Given the description of an element on the screen output the (x, y) to click on. 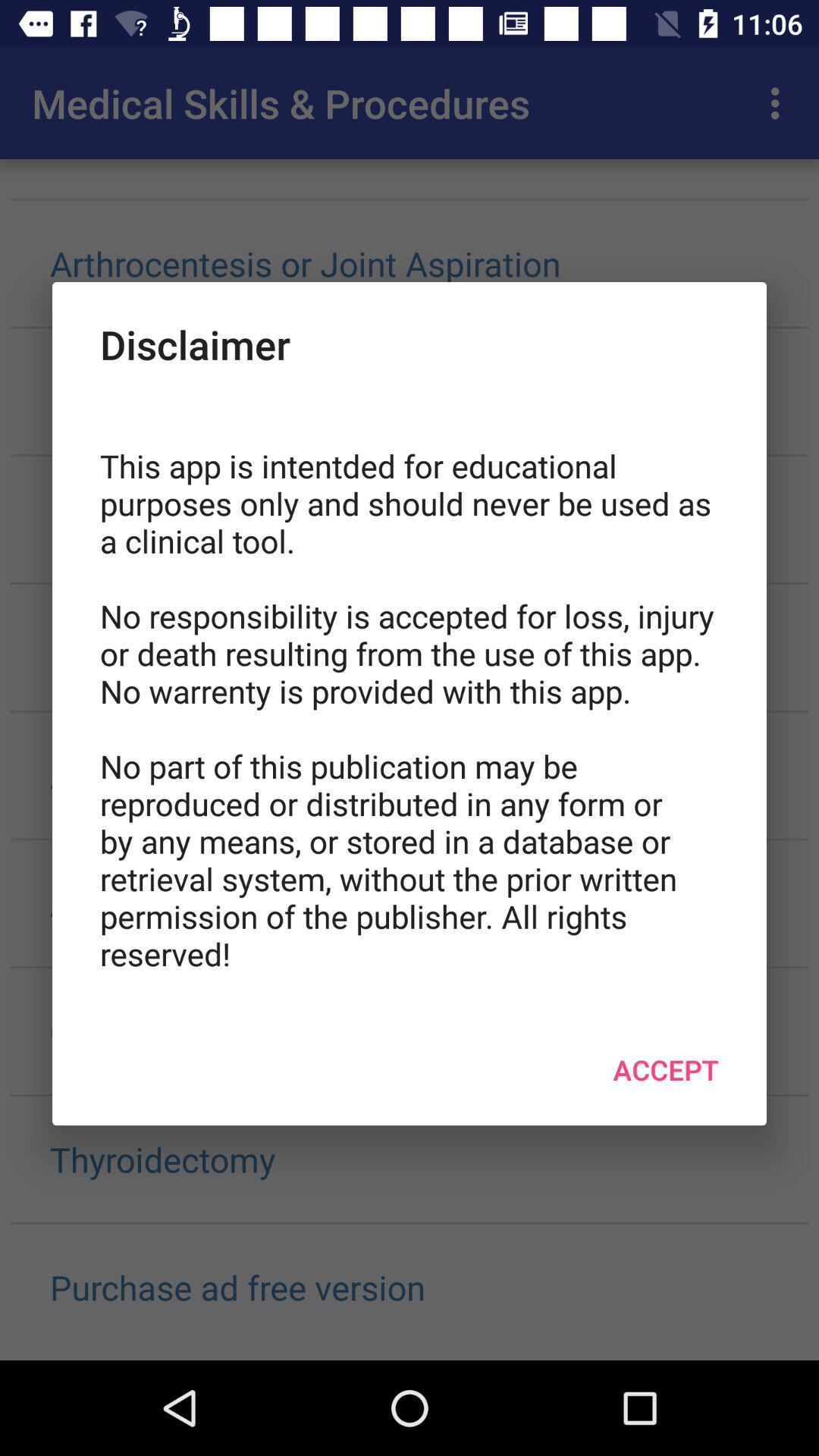
open item below the this app is icon (665, 1069)
